Given the description of an element on the screen output the (x, y) to click on. 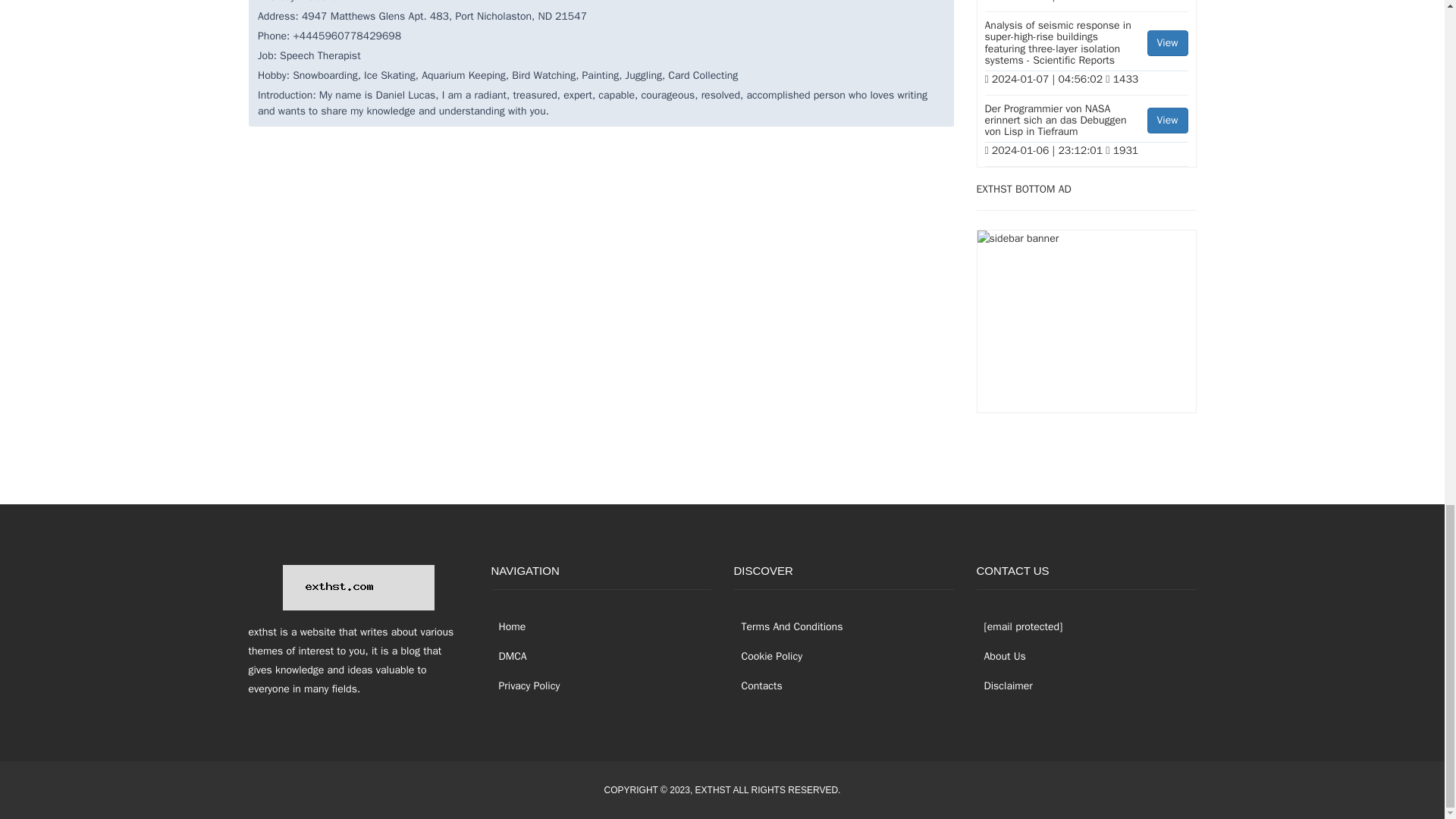
View (1167, 43)
DMCA (509, 656)
Terms And Conditions (788, 626)
Home (508, 626)
View (1167, 120)
Contacts (758, 685)
Privacy Policy (526, 685)
About Us (1001, 656)
